Given the description of an element on the screen output the (x, y) to click on. 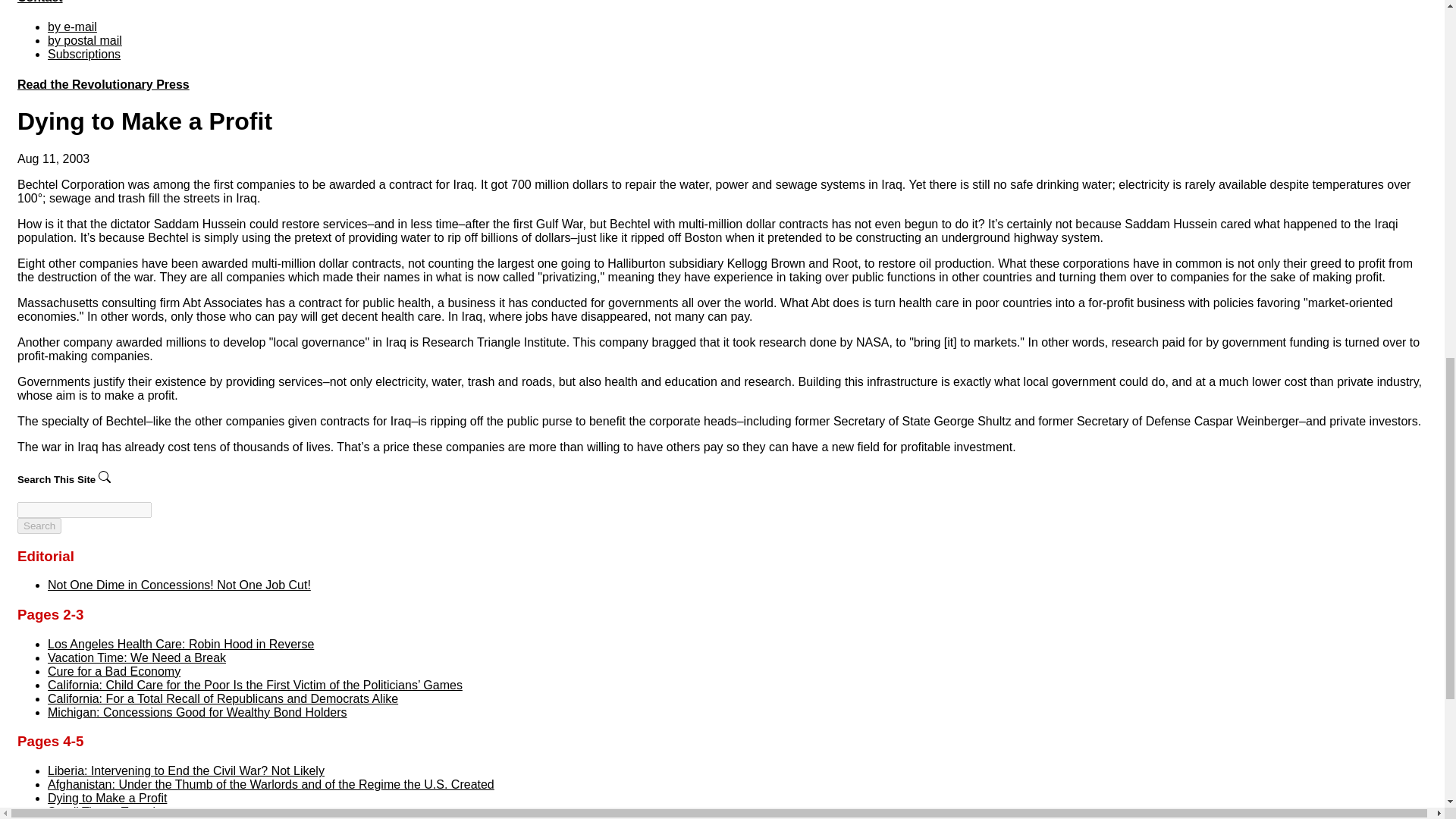
Search (39, 525)
Liberia: Intervening to End the Civil War? Not Likely (186, 770)
Postal mail addresses (85, 40)
Revolutionary Publications from Other Countries (103, 83)
Michigan: Concessions Good for Wealthy Bond Holders (197, 712)
Not One Dime in Concessions! Not One Job Cut! (179, 584)
Cure for a Bad Economy (114, 671)
by e-mail (72, 26)
Vacation Time: We Need a Break (136, 657)
